Given the description of an element on the screen output the (x, y) to click on. 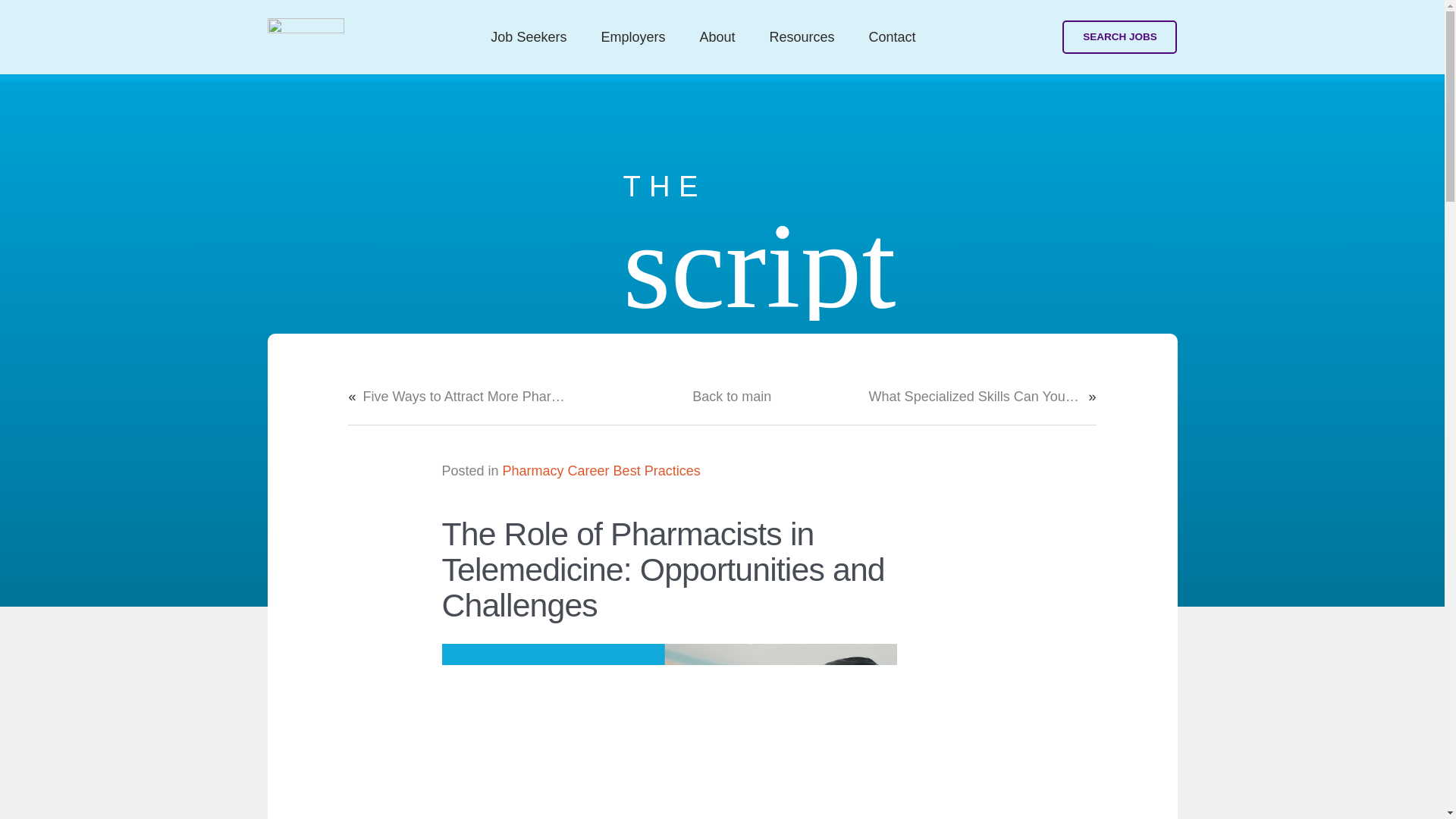
Contact (892, 37)
Pharmacy Career Best Practices (601, 470)
Resources (801, 37)
Employers (632, 37)
Job Seekers (528, 37)
About (717, 37)
Back to main (732, 395)
Five Ways to Attract More Pharmacists to Your Pharmacy (468, 395)
SEARCH JOBS (1119, 37)
